Given the description of an element on the screen output the (x, y) to click on. 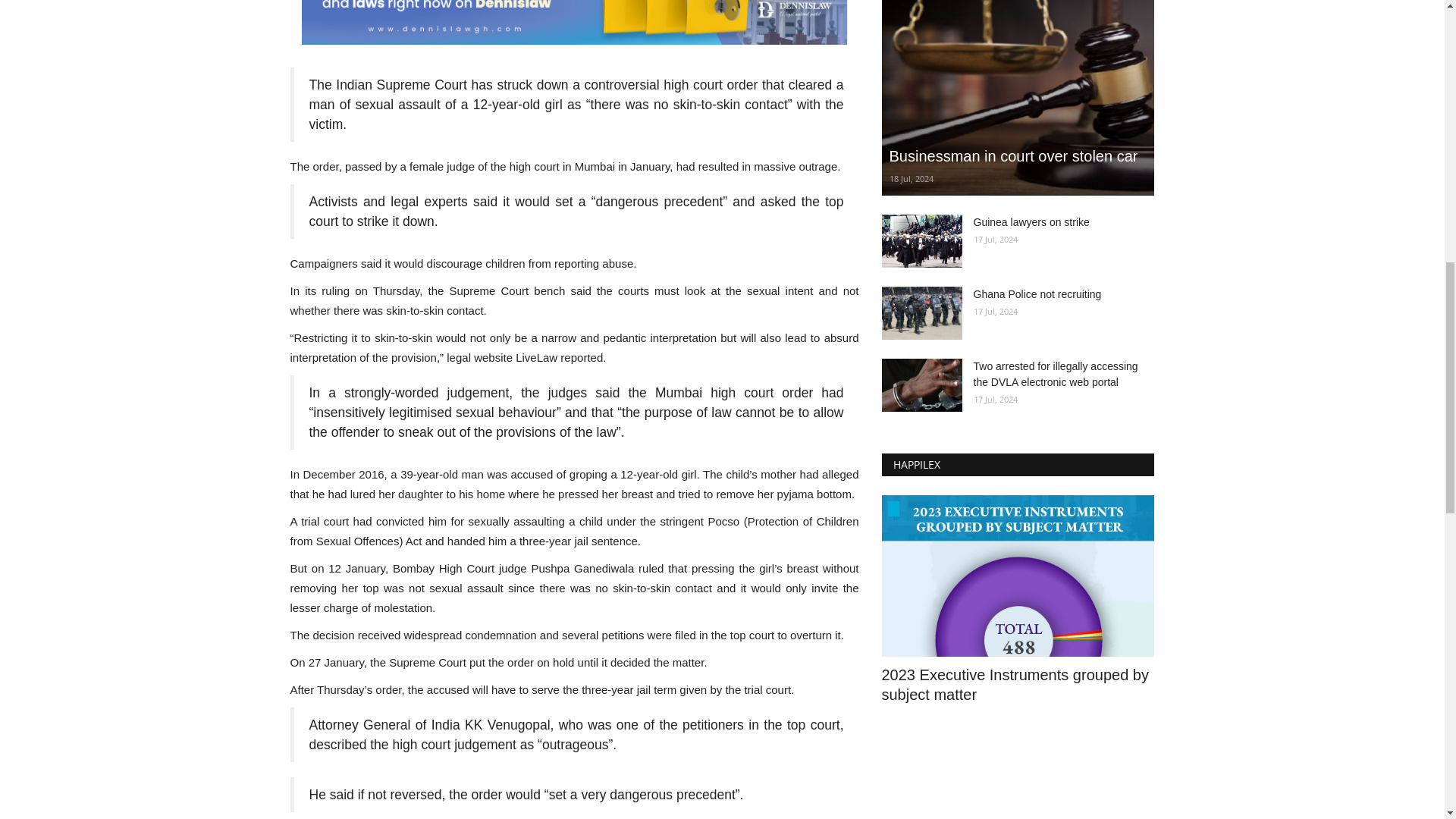
Dennislaw (574, 22)
